Given the description of an element on the screen output the (x, y) to click on. 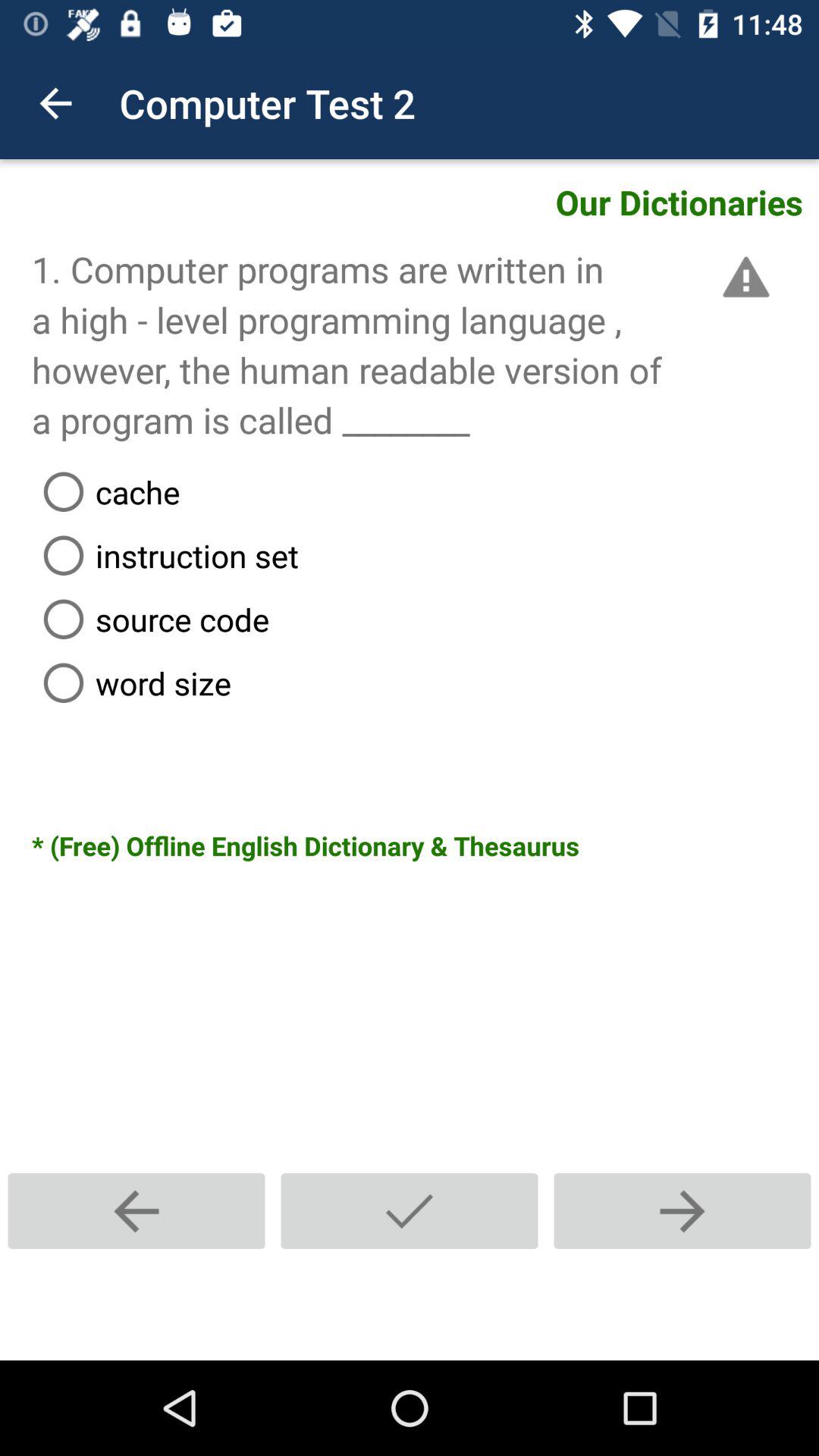
jump until free offline english icon (425, 845)
